Given the description of an element on the screen output the (x, y) to click on. 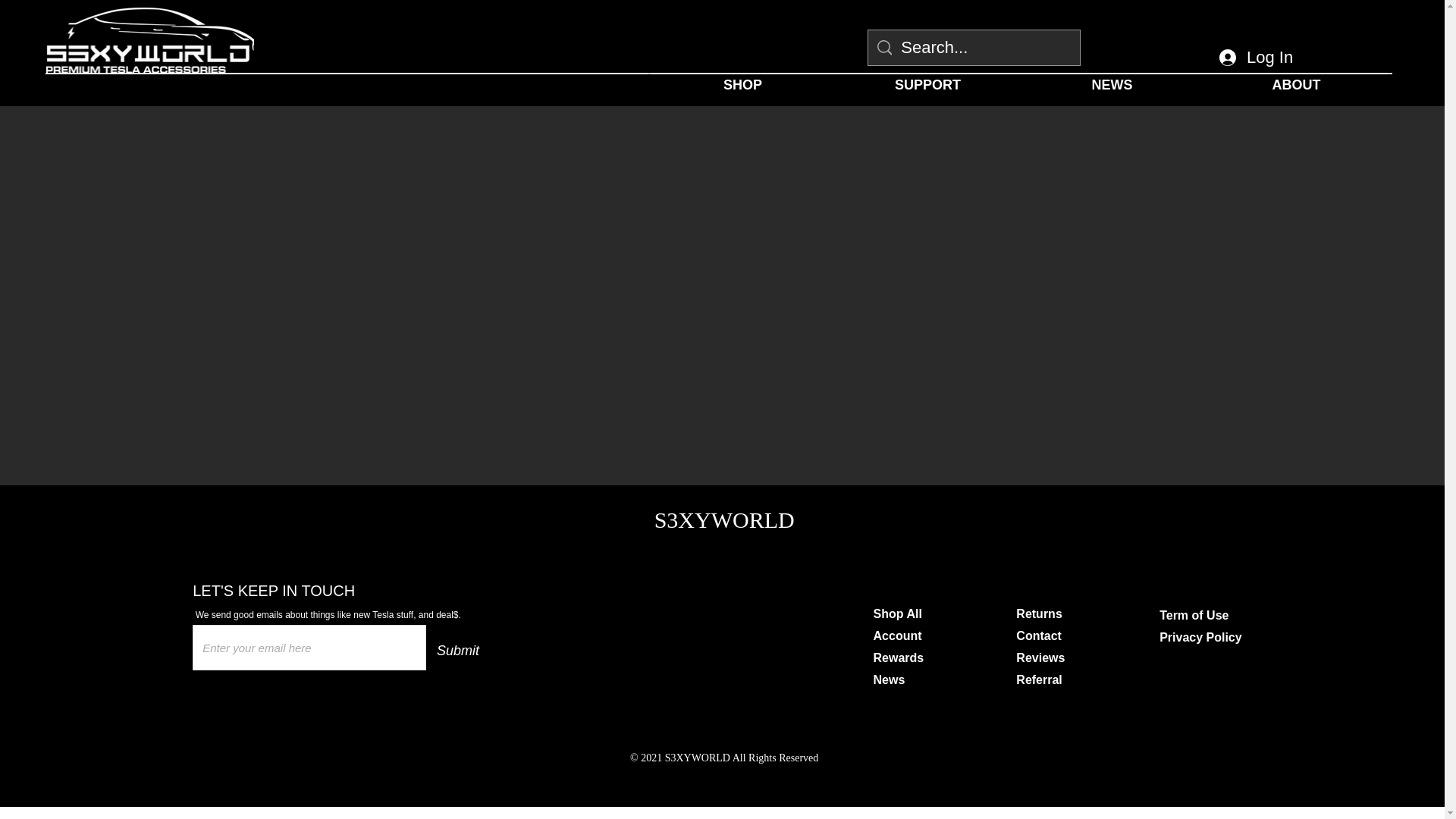
Account (897, 635)
Term of Use (1193, 615)
SUPPORT (927, 84)
Submit (462, 651)
News (889, 679)
NEWS (1112, 84)
Returns (1038, 613)
Privacy Policy (1199, 636)
Rewards (898, 657)
Contact (1038, 635)
SHOP (742, 84)
Reviews (1040, 657)
ABOUT (1296, 84)
Shop All (897, 613)
Log In (1255, 57)
